Given the description of an element on the screen output the (x, y) to click on. 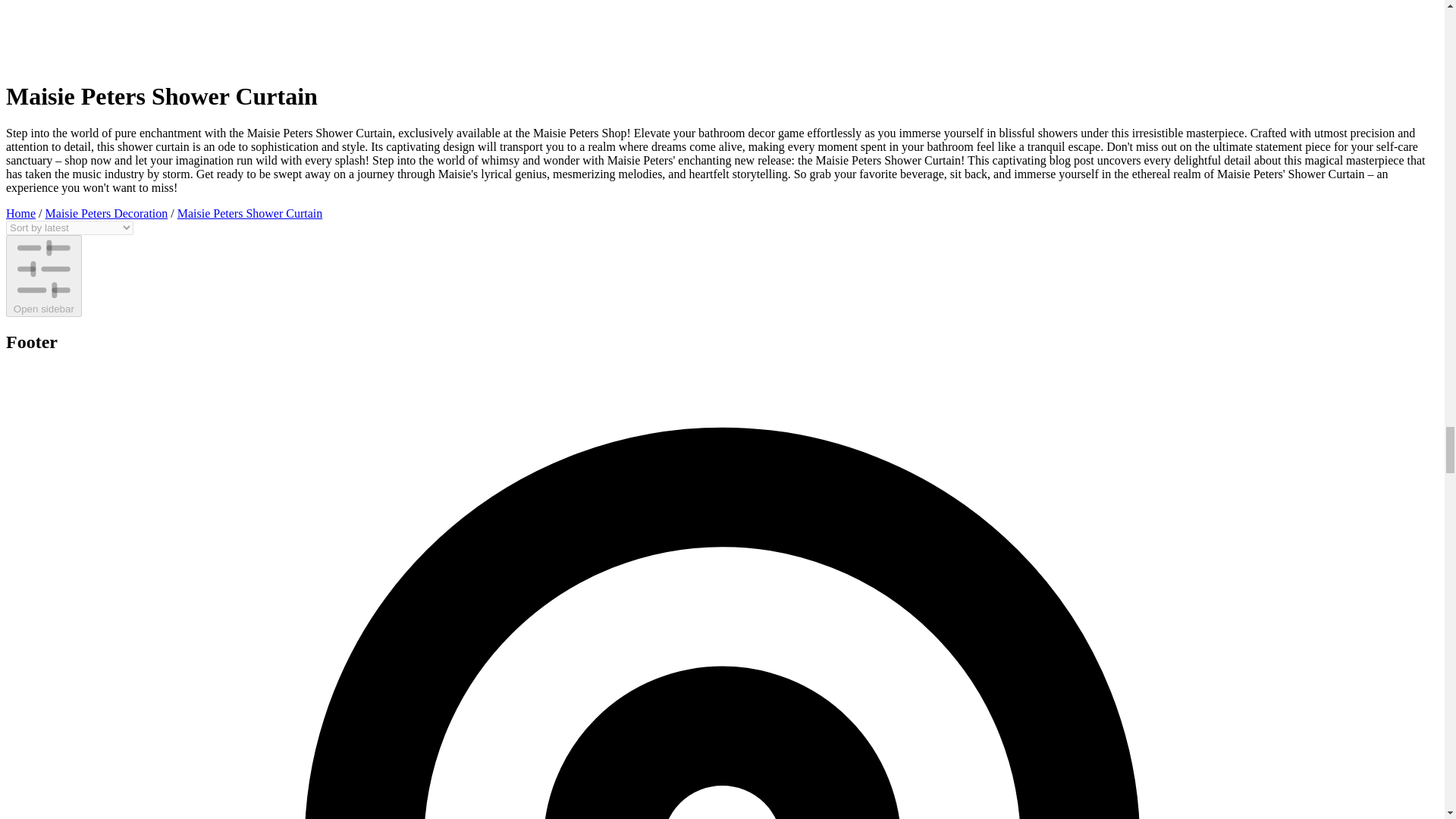
Home (19, 213)
Maisie Peters Decoration (106, 213)
Maisie Peters Shower Curtain (250, 213)
